Given the description of an element on the screen output the (x, y) to click on. 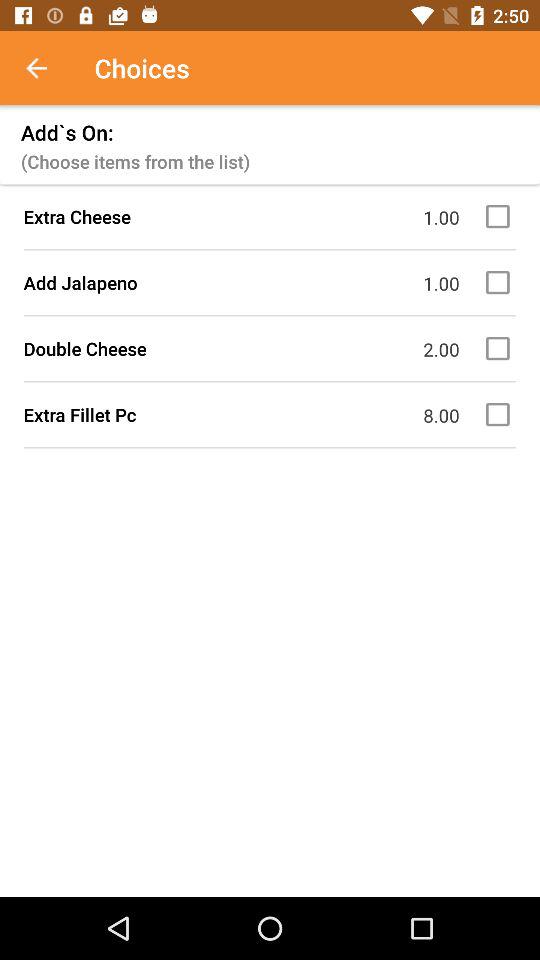
go to previous (47, 68)
